Given the description of an element on the screen output the (x, y) to click on. 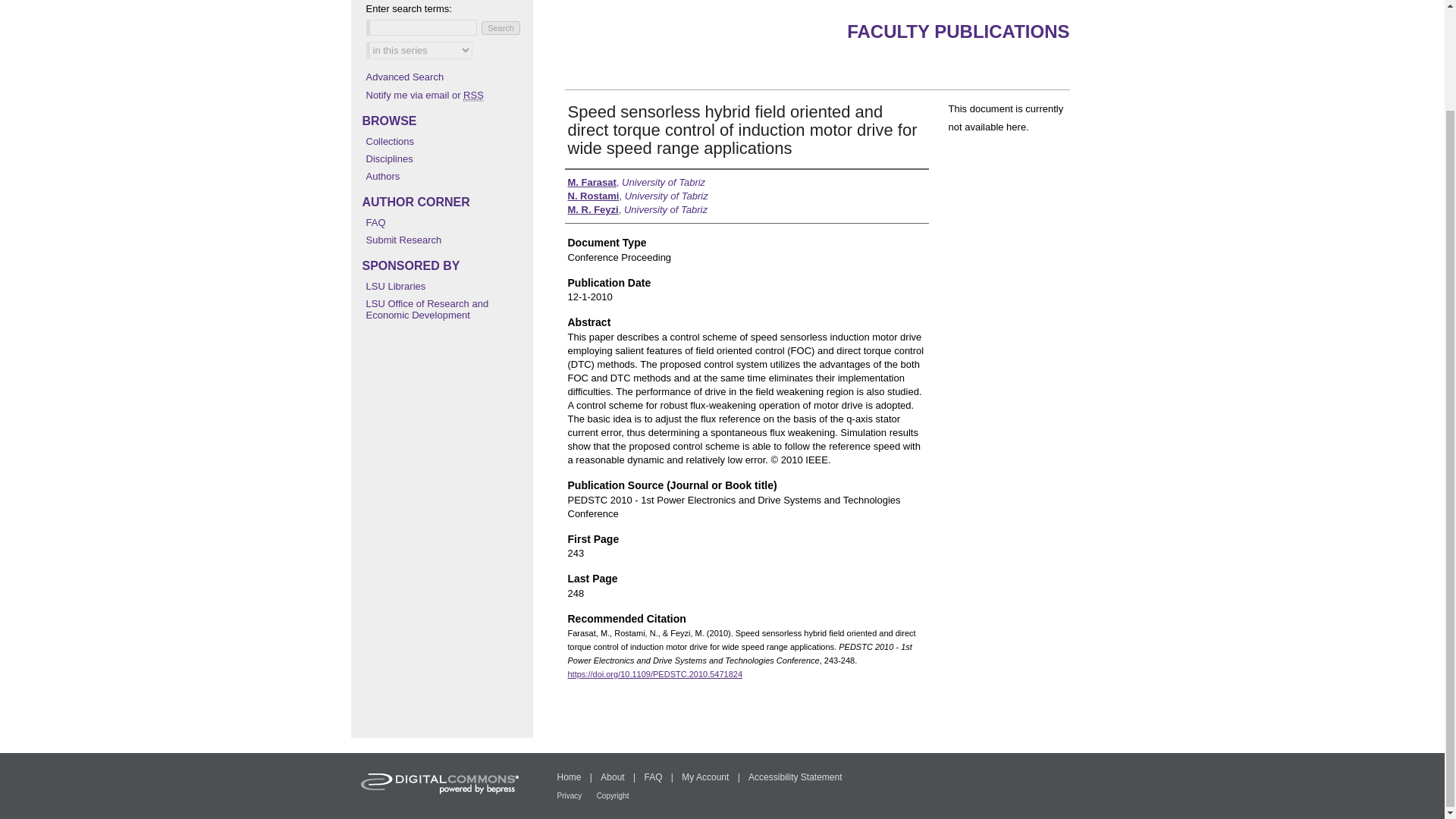
Advanced Search (404, 76)
LSU Office of Research and Economic Development (444, 309)
Search (500, 28)
LSU Libraries (444, 285)
Authors (444, 175)
Notify me via email or RSS (444, 94)
Home (568, 777)
Search (500, 28)
FAQ (444, 222)
Disciplines (444, 158)
Browse by Disciplines (444, 158)
FACULTY PUBLICATIONS (957, 31)
Submit Research (444, 239)
Really Simple Syndication (473, 95)
Search (500, 28)
